Given the description of an element on the screen output the (x, y) to click on. 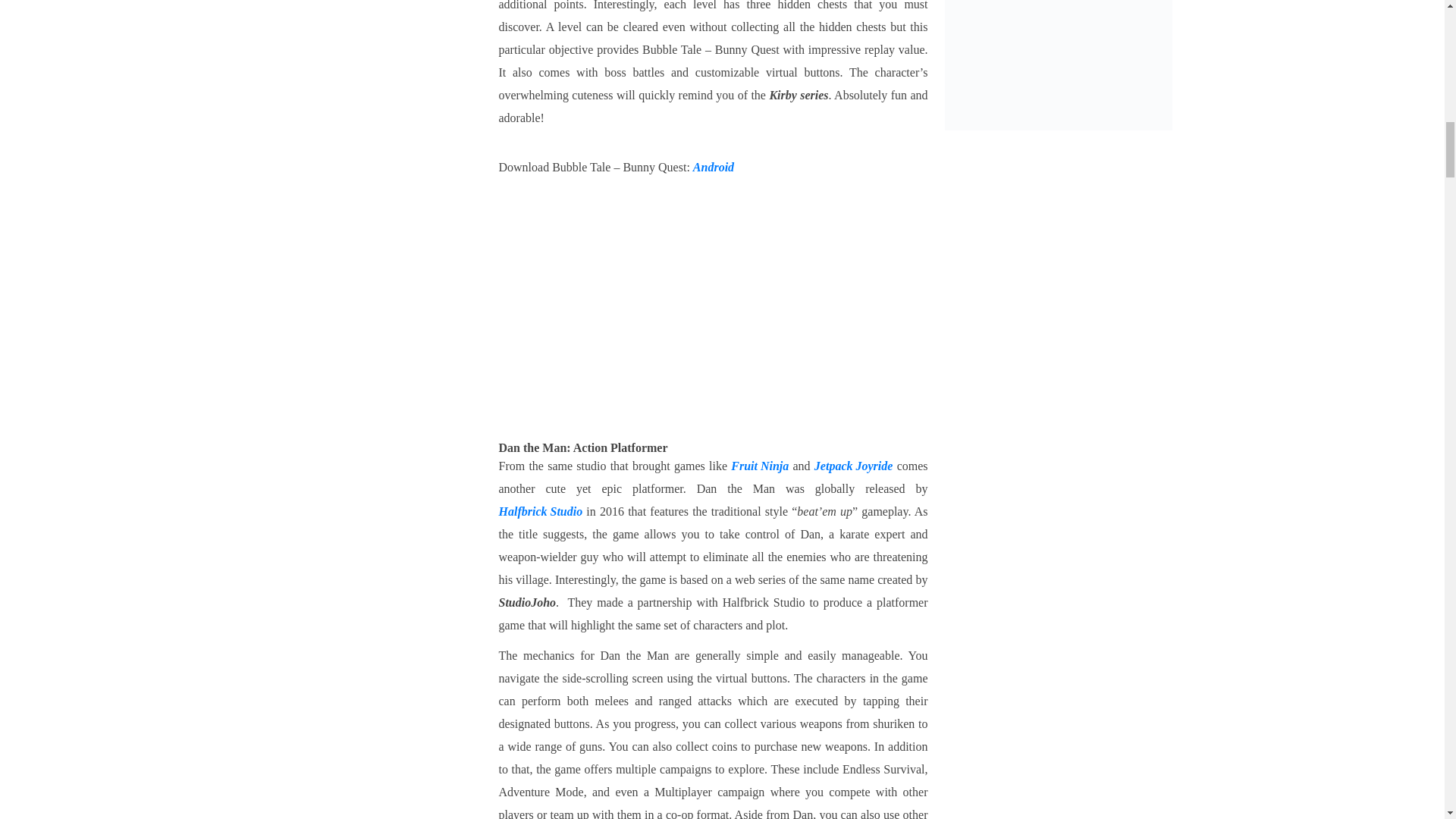
Android (713, 166)
Fruit Ninja (759, 466)
Jetpack Joyride (853, 466)
Top 10 Best Free-to-Play Platformer App Games for Mobile 3 (713, 310)
Halfbrick Studio (541, 511)
